Given the description of an element on the screen output the (x, y) to click on. 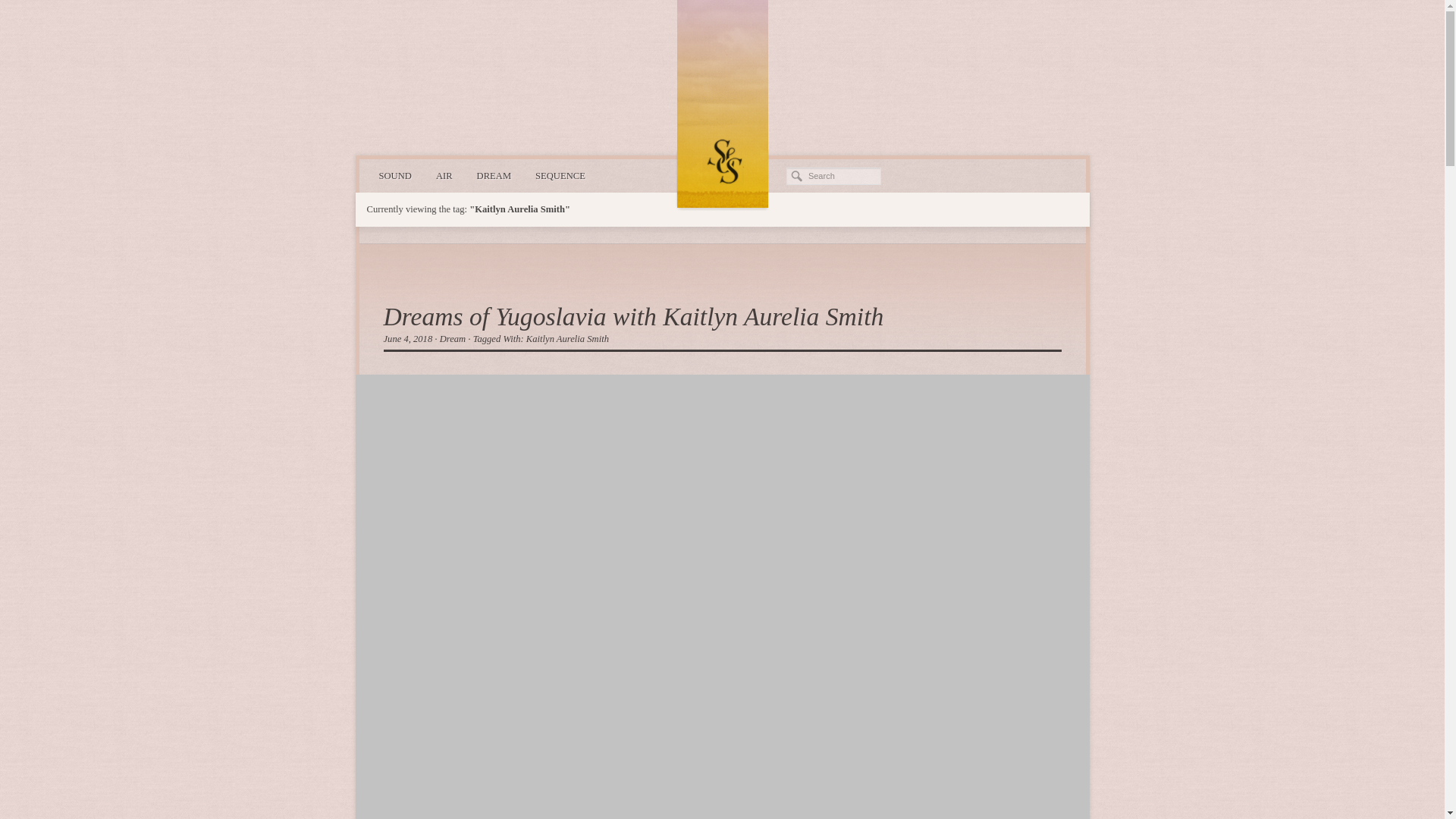
DREAM (493, 175)
Dream (452, 338)
Kaitlyn Aurelia Smith (566, 338)
SOUND (394, 175)
Dreams of Yugoslavia with Kaitlyn Aurelia Smith (633, 316)
Dreams of Yugoslavia with Kaitlyn Aurelia Smith (633, 316)
AIR (443, 175)
SEQUENCE (559, 175)
